Given the description of an element on the screen output the (x, y) to click on. 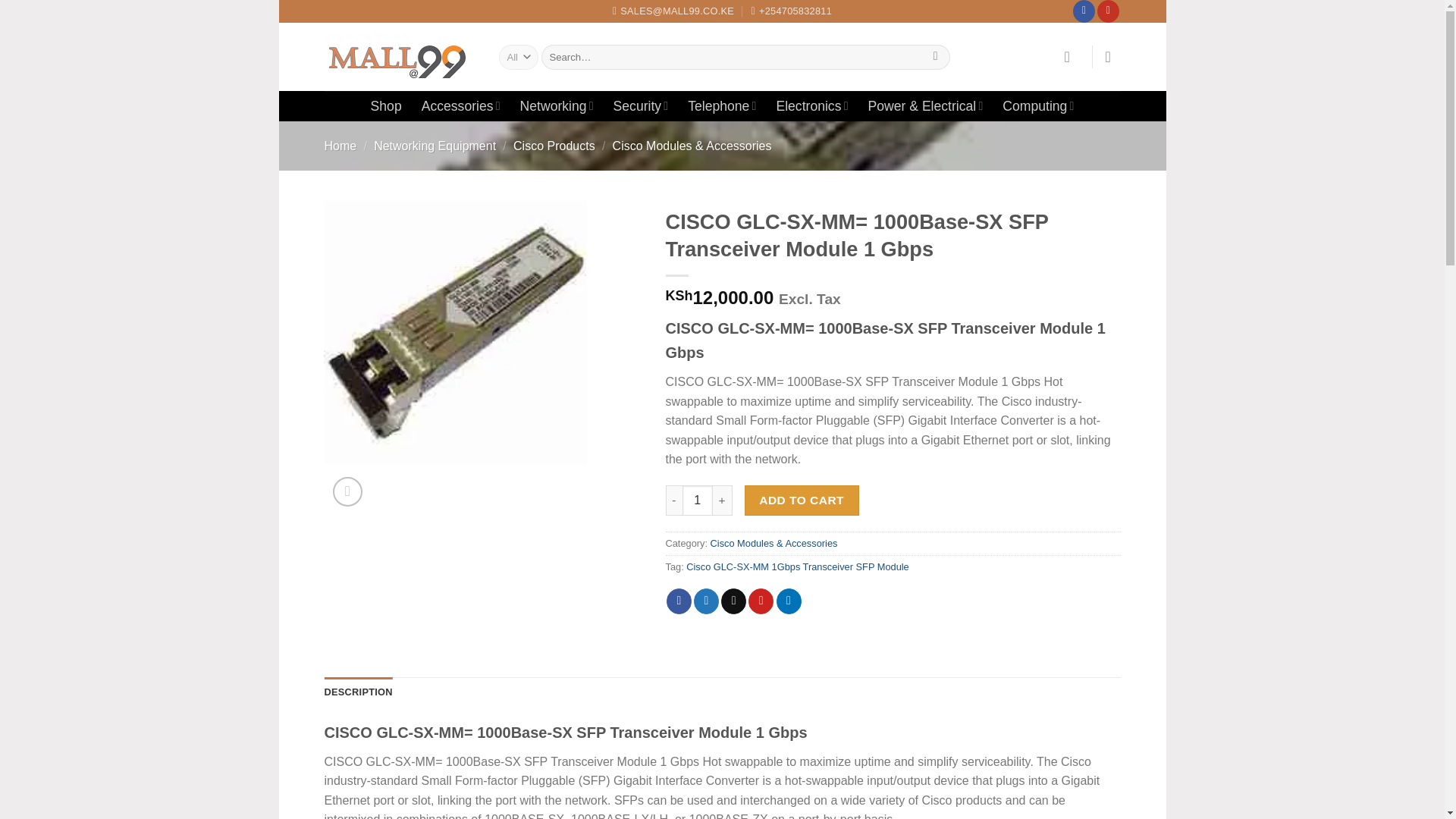
Pin on Pinterest (760, 601)
Networking (556, 105)
Shop (386, 105)
Share on Twitter (706, 601)
Accessories (461, 105)
Share on Facebook (678, 601)
Email to a Friend (732, 601)
Zoom (347, 491)
1 (697, 500)
